Given the description of an element on the screen output the (x, y) to click on. 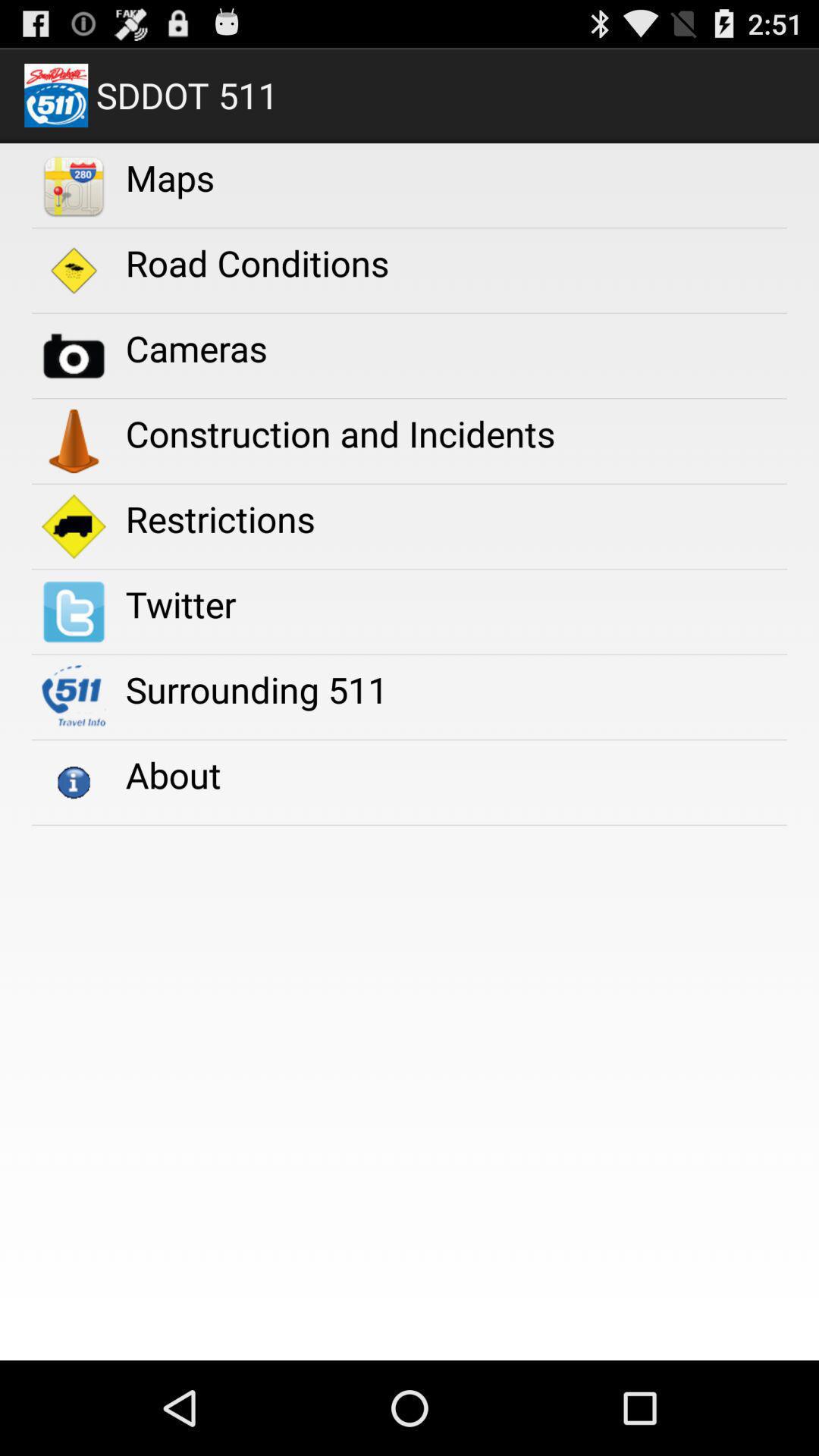
launch twitter (180, 604)
